Given the description of an element on the screen output the (x, y) to click on. 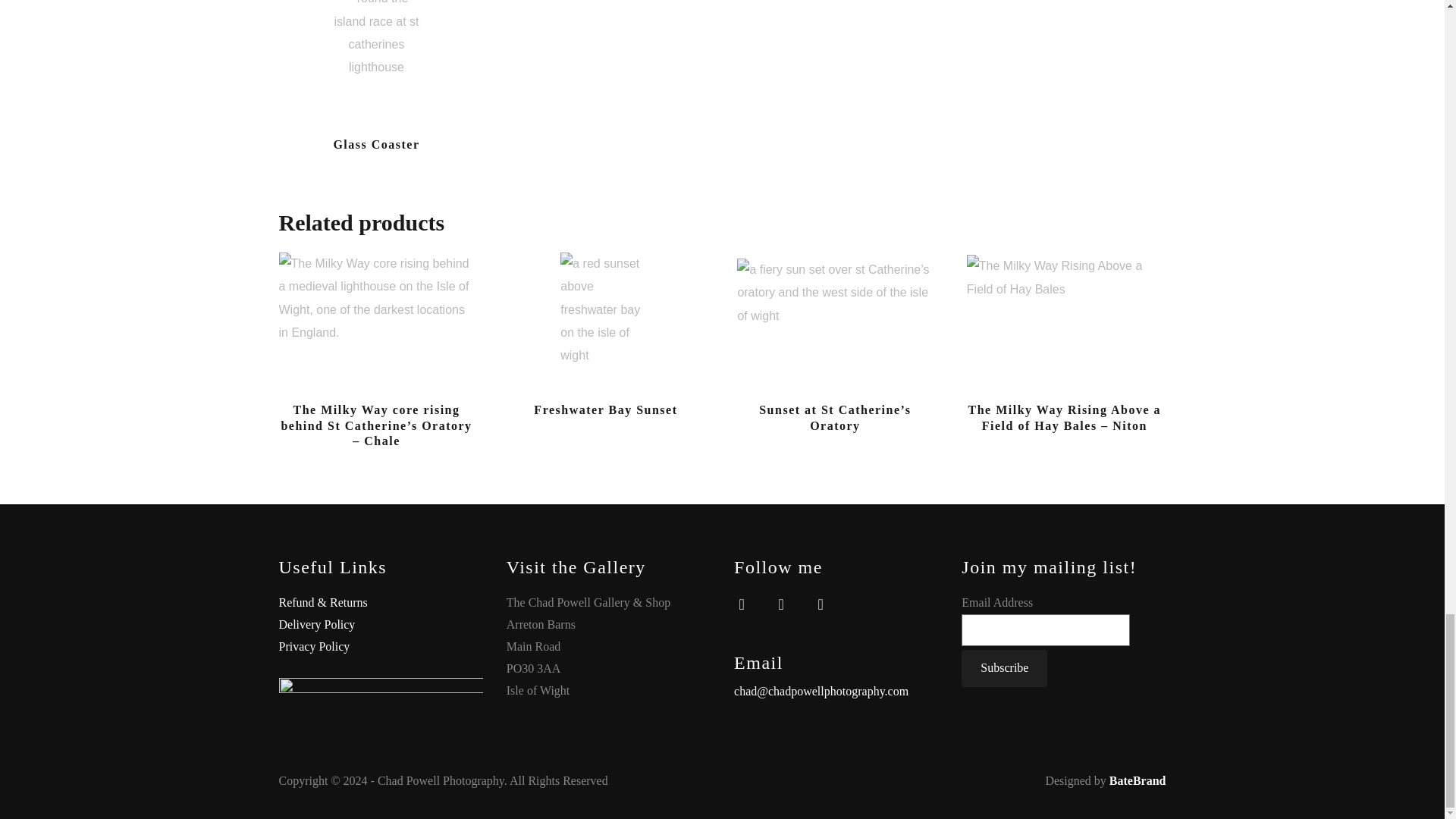
Instagram (780, 603)
Facebook (741, 603)
